Given the description of an element on the screen output the (x, y) to click on. 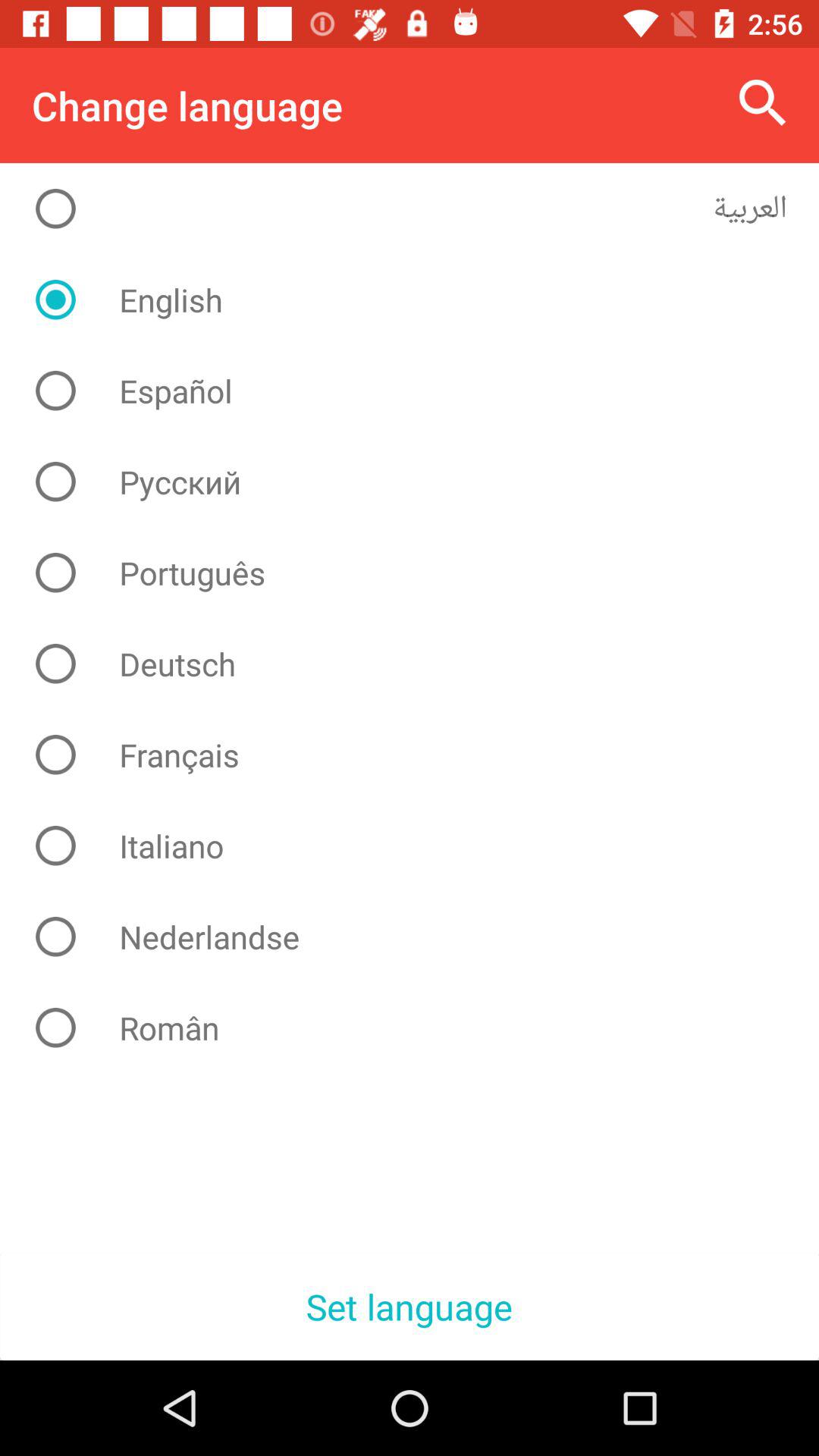
press the icon to the right of change language icon (763, 103)
